Given the description of an element on the screen output the (x, y) to click on. 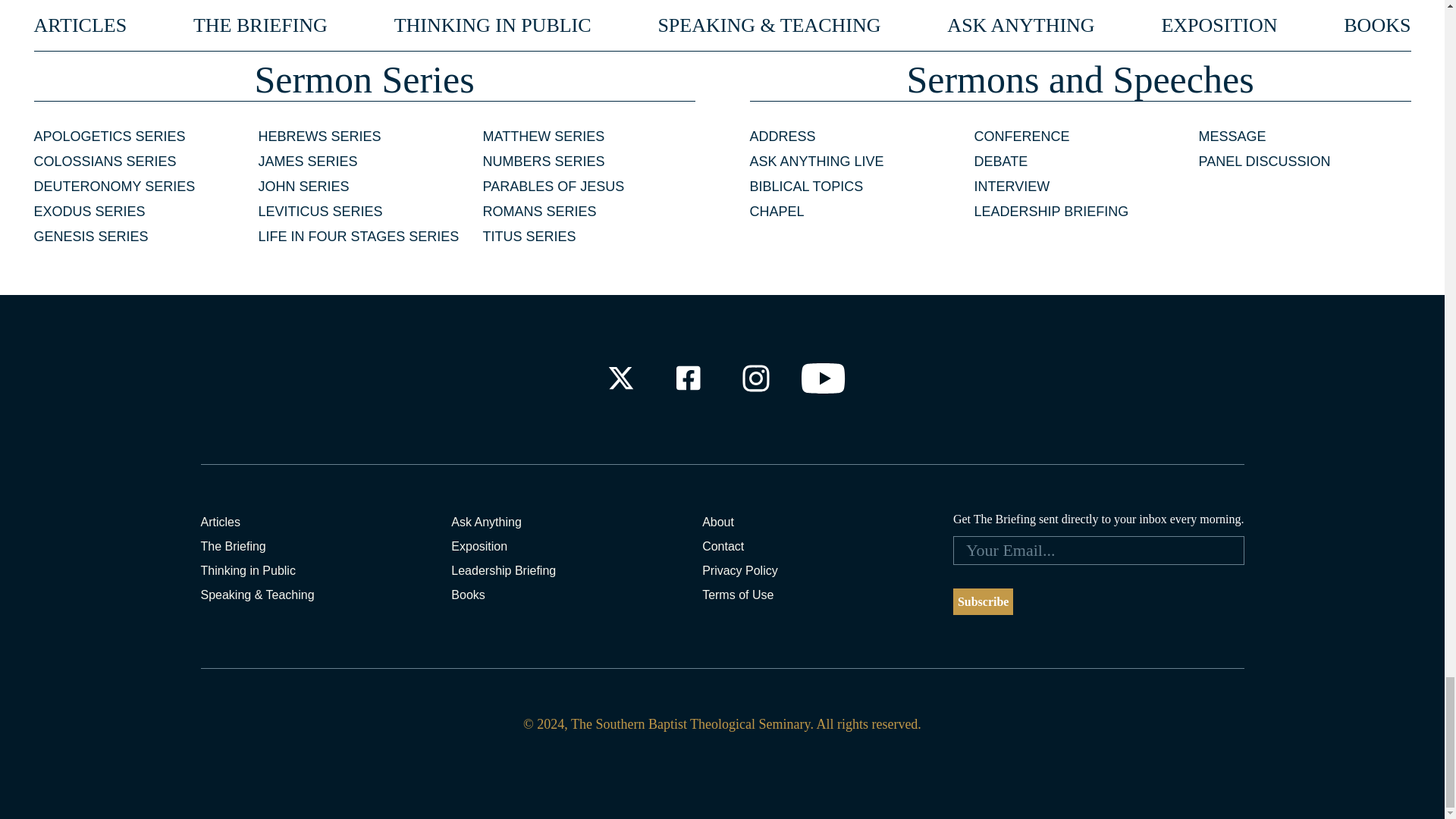
Check out our Youtube Channel (822, 377)
Subscribe (983, 601)
Check out our Facebook Profile (687, 377)
Check out our Instagram Profile (755, 377)
Check out our X Profile (620, 377)
